Given the description of an element on the screen output the (x, y) to click on. 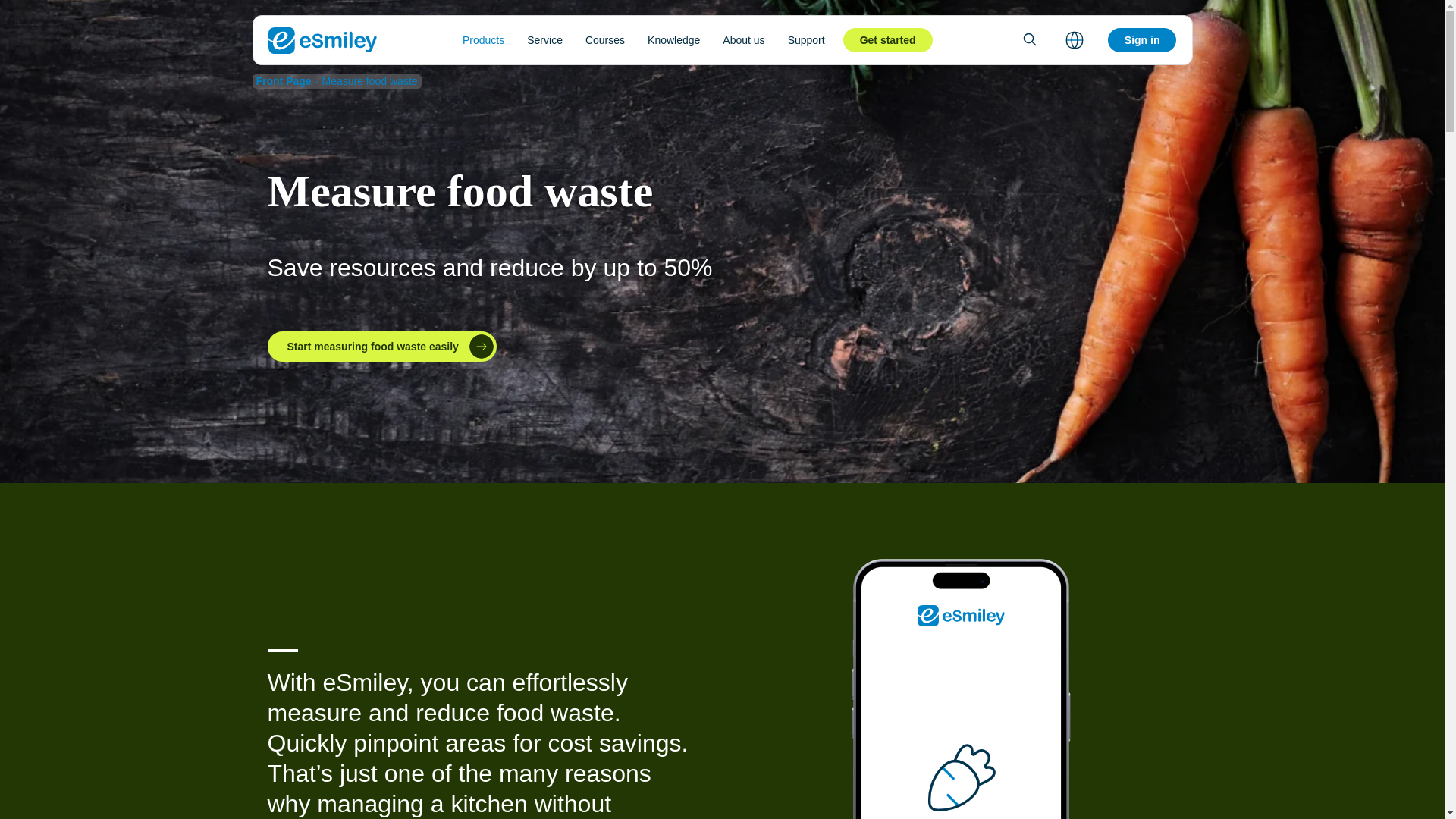
search (1029, 39)
Knowledge (673, 39)
Get started (888, 39)
